Given the description of an element on the screen output the (x, y) to click on. 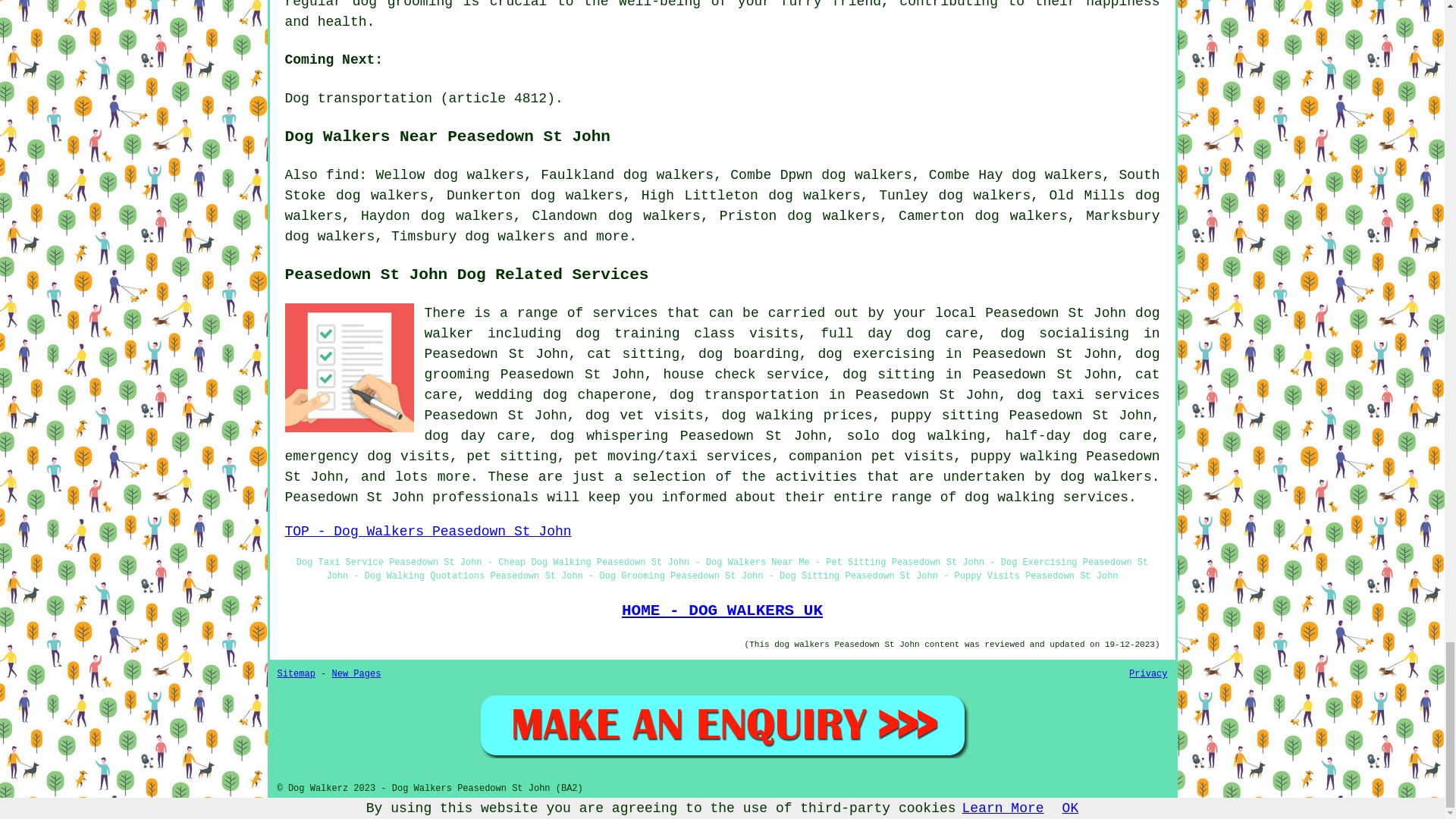
half-day dog care (1077, 435)
Peasedown St John Dog Related Services (349, 367)
puppy walking (1024, 456)
Enquire About Dog Walkers in Peasedown St John Somerset (722, 725)
dog sitting (888, 374)
dog taxi services (1088, 394)
